Given the description of an element on the screen output the (x, y) to click on. 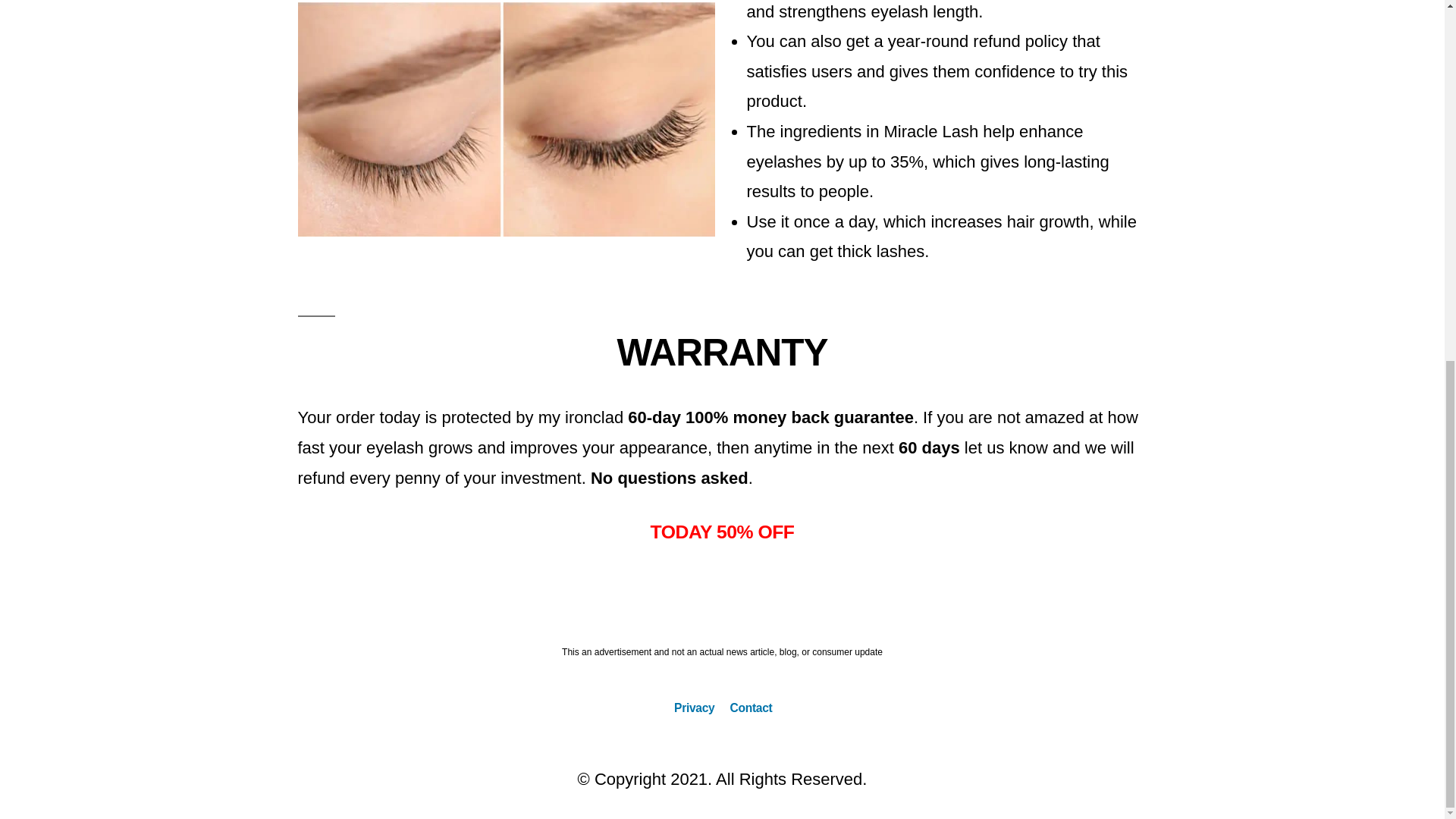
Contact (750, 707)
Privacy (694, 707)
